Given the description of an element on the screen output the (x, y) to click on. 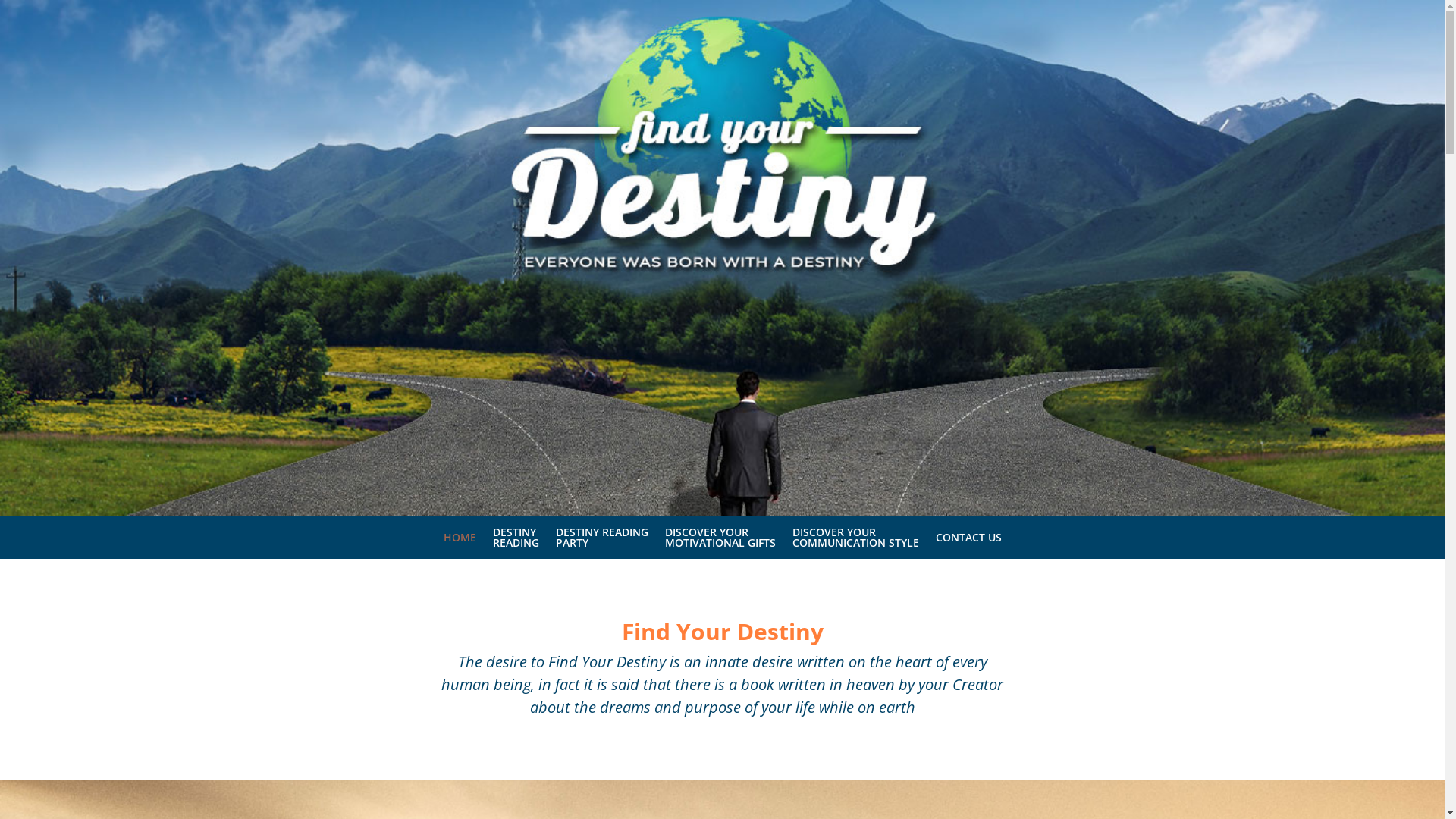
DISCOVER YOUR
MOTIVATIONAL GIFTS Element type: text (719, 542)
DESTINY READING
PARTY Element type: text (601, 542)
DESTINY
READING Element type: text (515, 542)
DISCOVER YOUR
COMMUNICATION STYLE Element type: text (854, 542)
1400x500 Element type: hover (722, 257)
HOME Element type: text (458, 542)
CONTACT US Element type: text (968, 542)
